Given the description of an element on the screen output the (x, y) to click on. 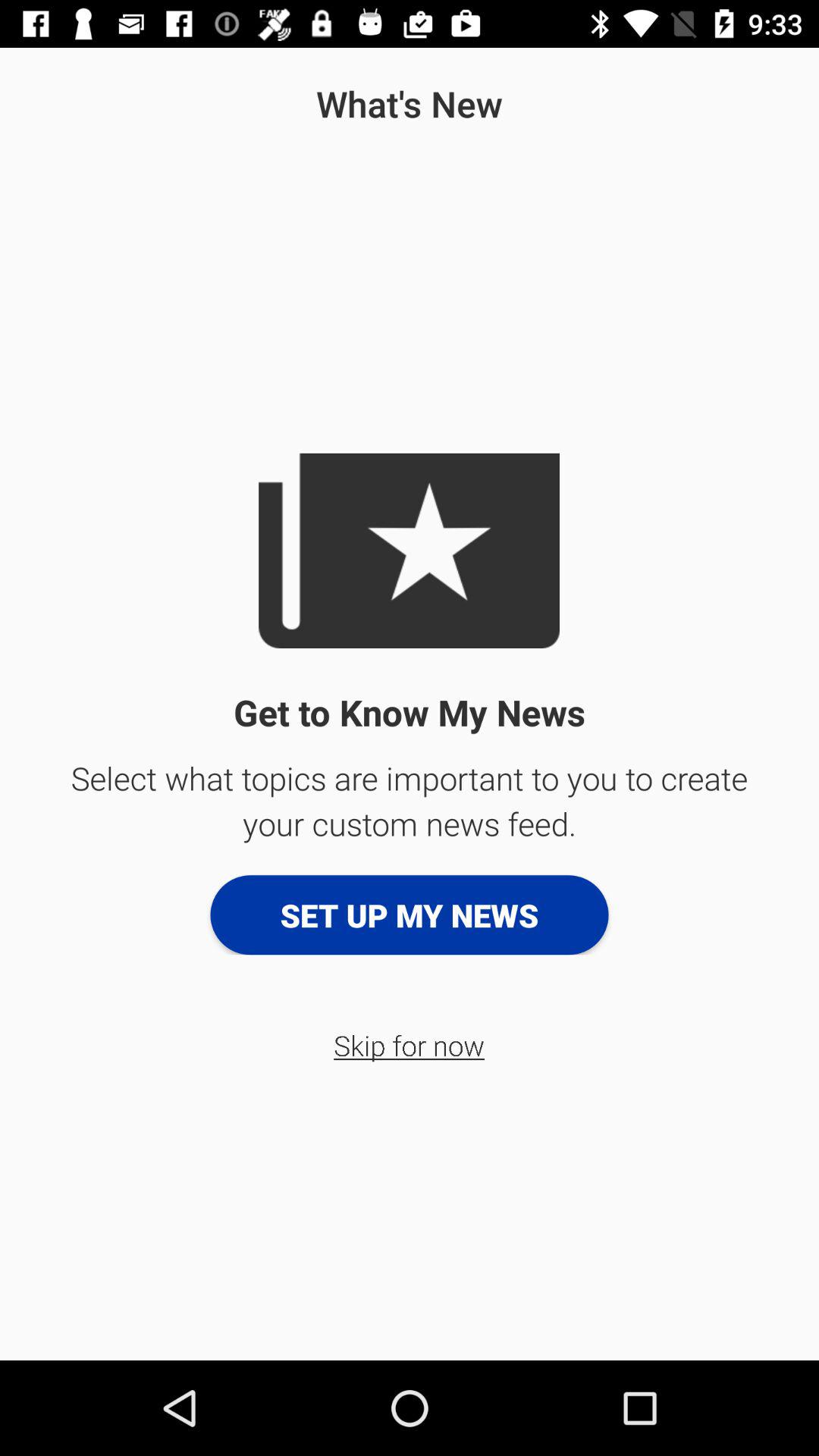
press the set up my button (409, 914)
